Given the description of an element on the screen output the (x, y) to click on. 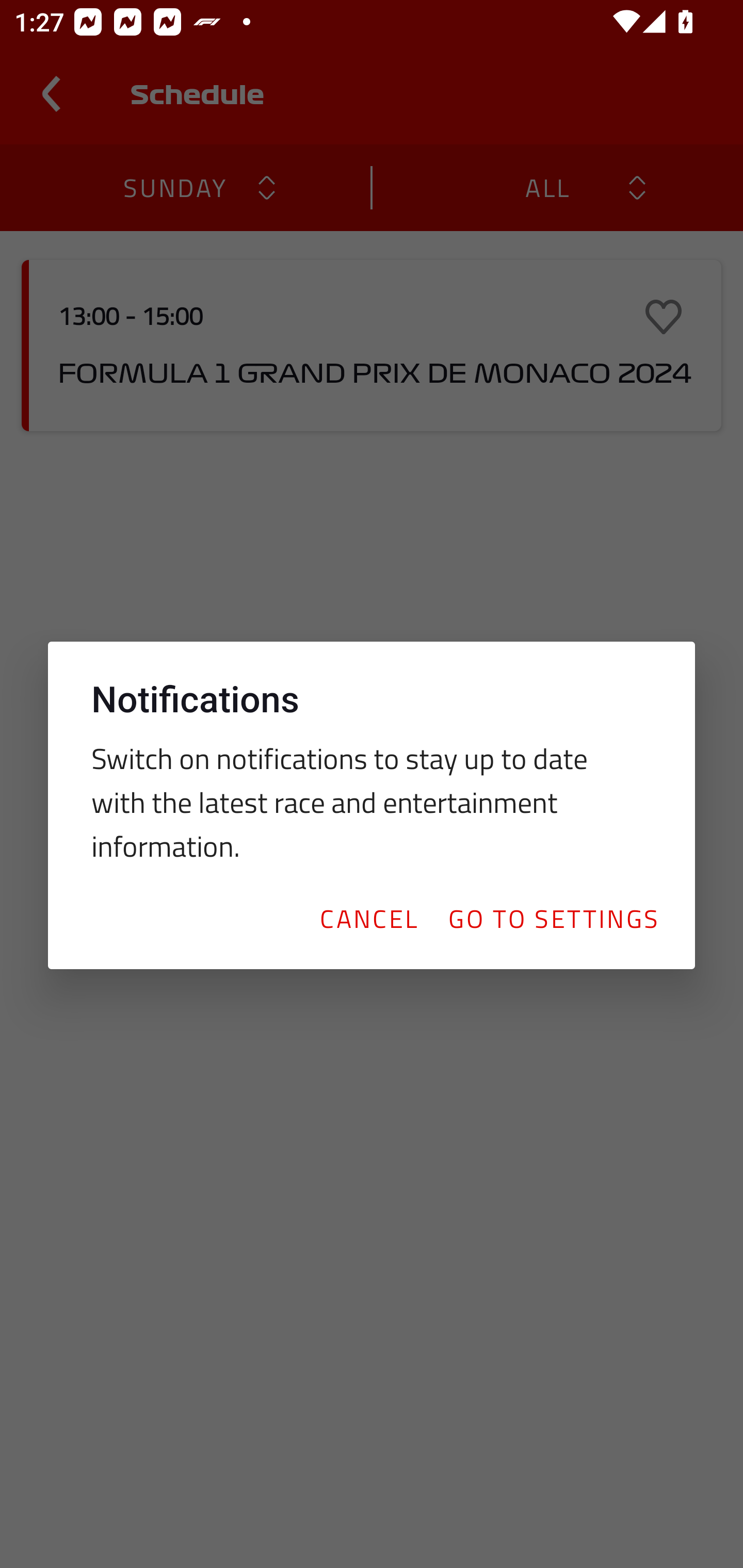
CANCEL (367, 917)
GO TO SETTINGS (552, 917)
